Given the description of an element on the screen output the (x, y) to click on. 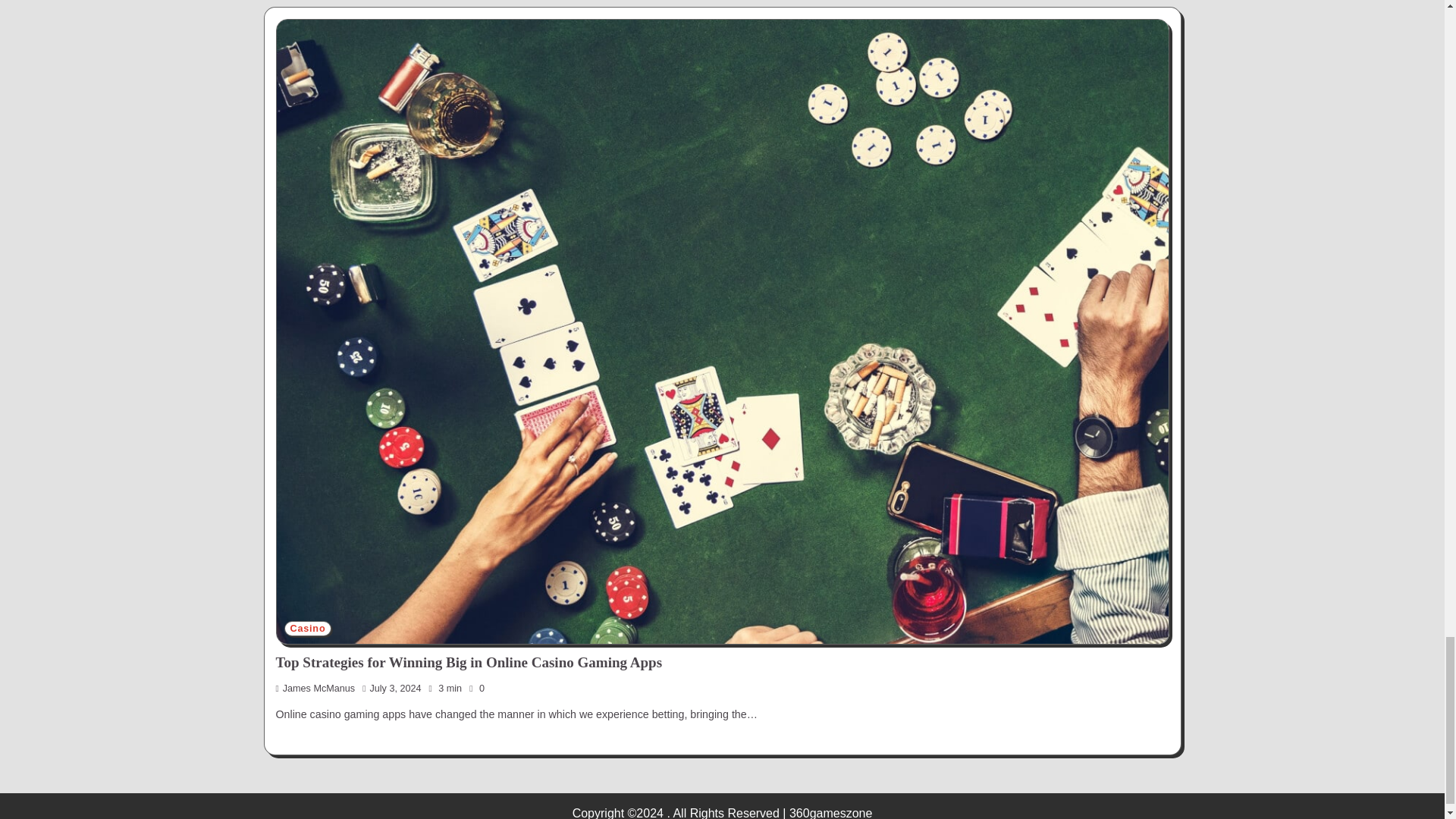
Casino (307, 628)
James McManus (315, 688)
Top Strategies for Winning Big in Online Casino Gaming Apps (469, 662)
